Given the description of an element on the screen output the (x, y) to click on. 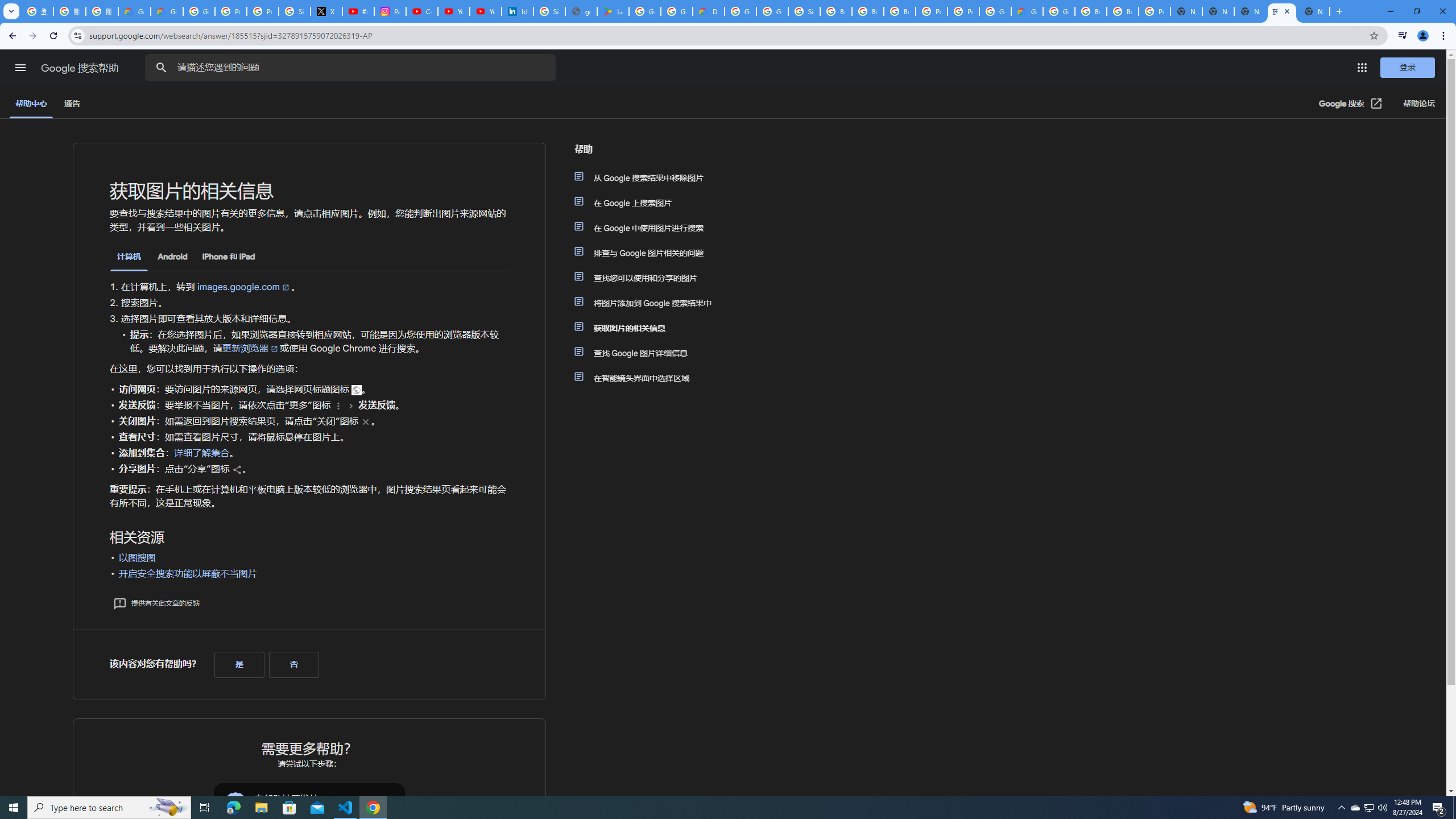
Visit page (355, 389)
google_privacy_policy_en.pdf (581, 11)
Browse Chrome as a guest - Computer - Google Chrome Help (836, 11)
Sign in - Google Accounts (294, 11)
